Given the description of an element on the screen output the (x, y) to click on. 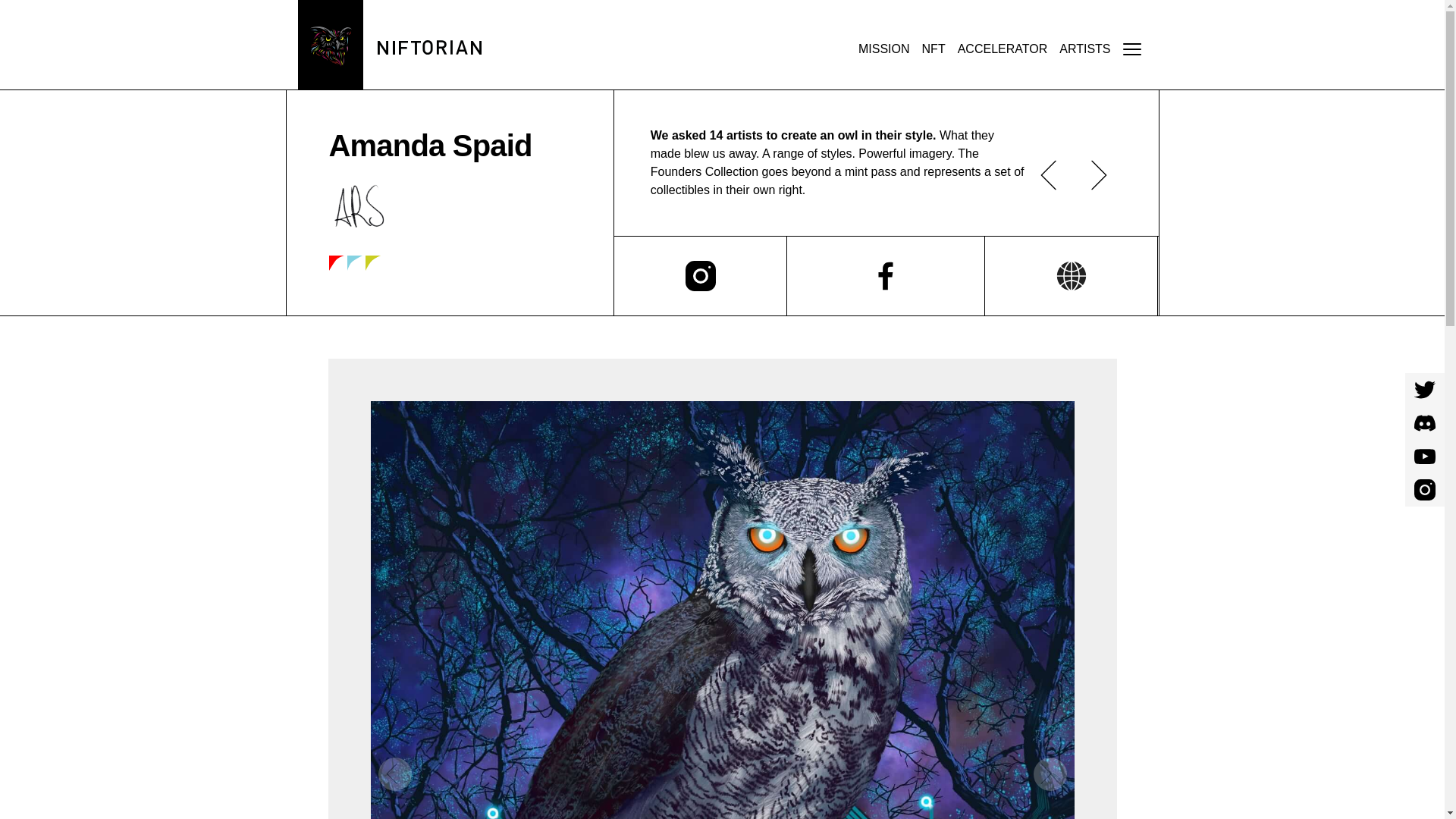
ARTISTS (1084, 49)
NFT (933, 49)
ACCELERATOR (1003, 49)
MISSION (883, 49)
signature (358, 206)
